Given the description of an element on the screen output the (x, y) to click on. 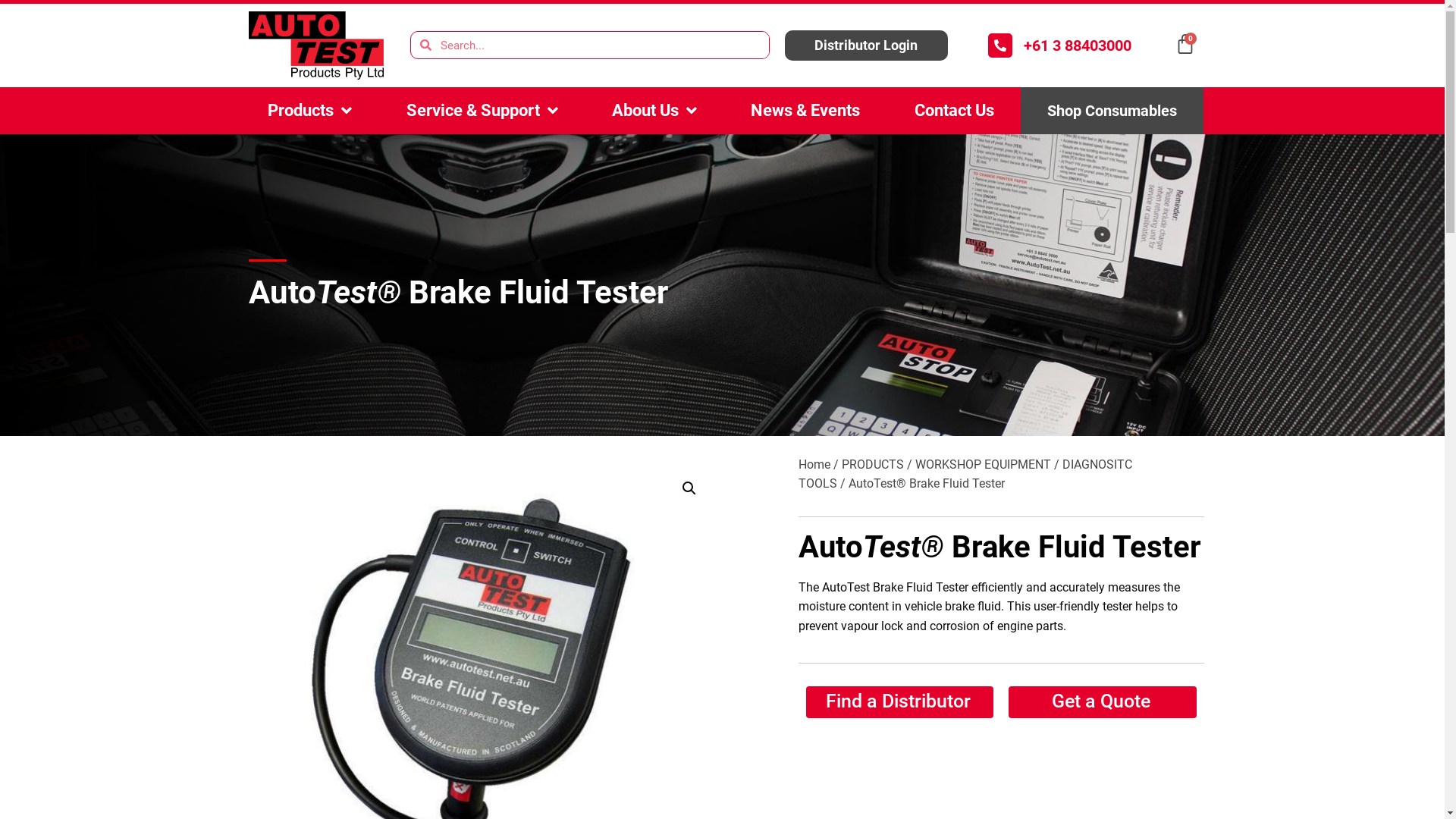
Service & Support Element type: text (481, 110)
Contact Us Element type: text (953, 110)
Home Element type: text (813, 464)
Find a Distributor Element type: text (899, 702)
Distributor Login Element type: text (865, 45)
DIAGNOSITC TOOLS Element type: text (964, 474)
Shop Consumables Element type: text (1111, 110)
Get a Quote Element type: text (1102, 702)
PRODUCTS Element type: text (872, 464)
WORKSHOP EQUIPMENT Element type: text (982, 464)
0 Element type: text (1184, 44)
News & Events Element type: text (805, 110)
Products Element type: text (310, 110)
About Us Element type: text (653, 110)
+61 3 88403000 Element type: text (1077, 45)
